Given the description of an element on the screen output the (x, y) to click on. 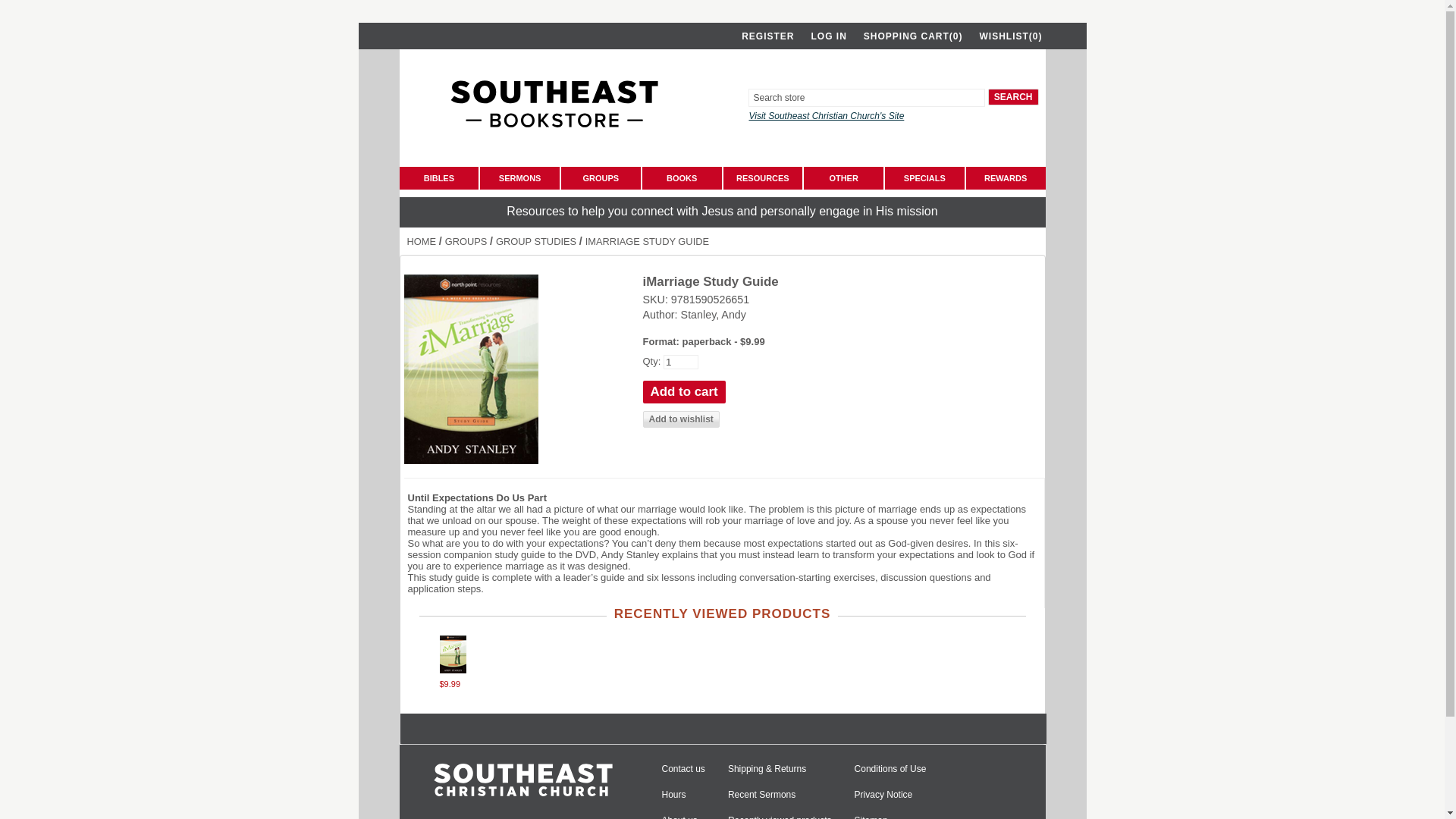
Search (1013, 96)
REGISTER (763, 38)
Search store (866, 97)
Search store (866, 97)
Search (1013, 96)
SERMONS (519, 178)
Search (1013, 96)
LOG IN (824, 38)
Add to wishlist (681, 419)
Show details for iMarriage Study Guide (446, 670)
Show details for iMarriage Study Guide (452, 654)
1 (680, 361)
Visit Southeast Christian Church'S Site (826, 115)
BIBLES (438, 178)
Add to cart (684, 391)
